Given the description of an element on the screen output the (x, y) to click on. 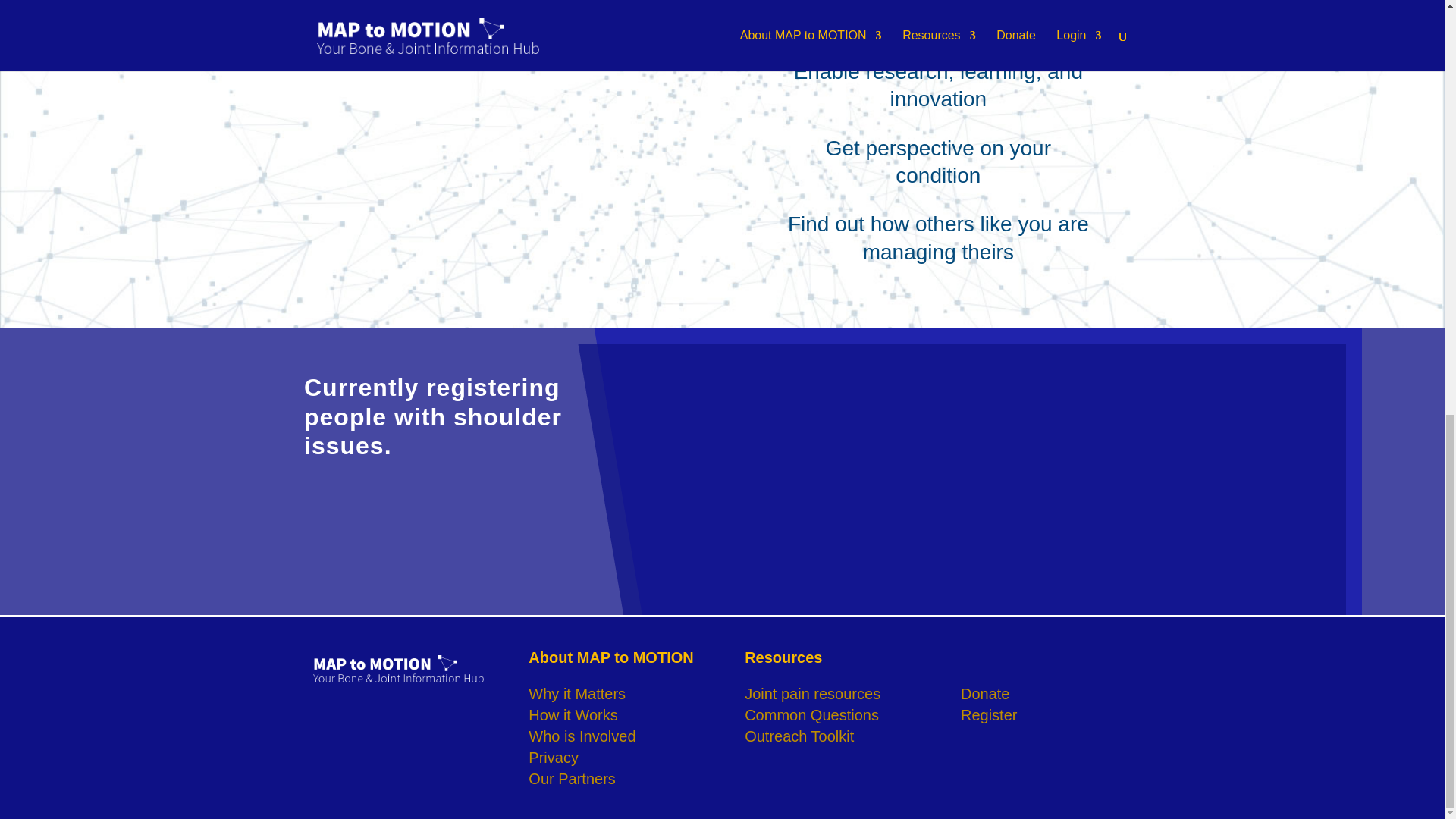
Donate (985, 693)
How it Works (572, 714)
Joint pain resources (812, 693)
Our Partners (571, 778)
Register (988, 714)
Outreach Toolkit (798, 736)
Why it Matters (577, 693)
Who is Involved (581, 736)
Common Questions (811, 714)
Privacy (553, 757)
